Given the description of an element on the screen output the (x, y) to click on. 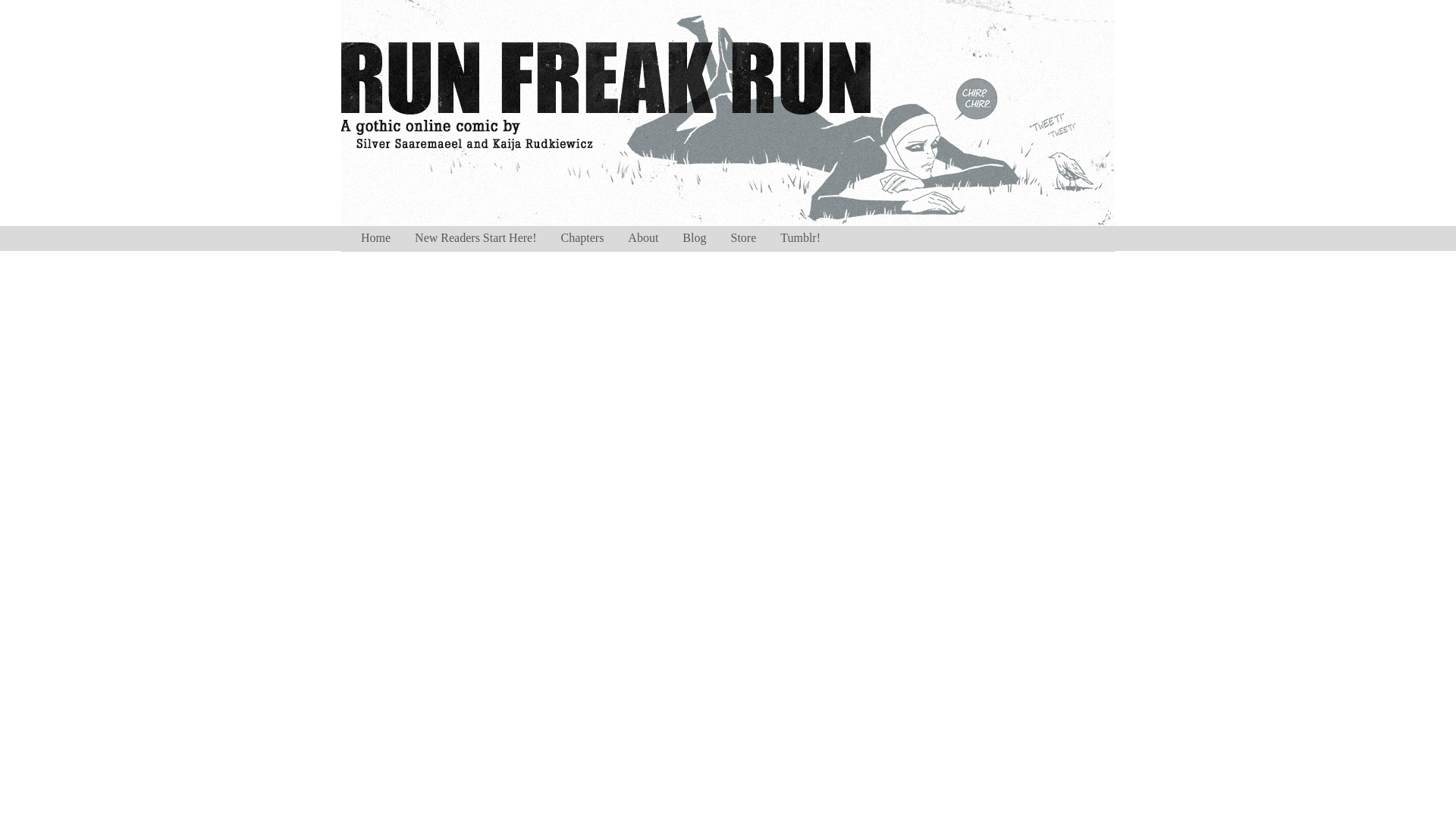
New Readers Start Here! (475, 238)
Store (742, 238)
Tumblr! (800, 238)
Blog (693, 238)
Home (376, 238)
Chapters (581, 238)
About (642, 238)
